Given the description of an element on the screen output the (x, y) to click on. 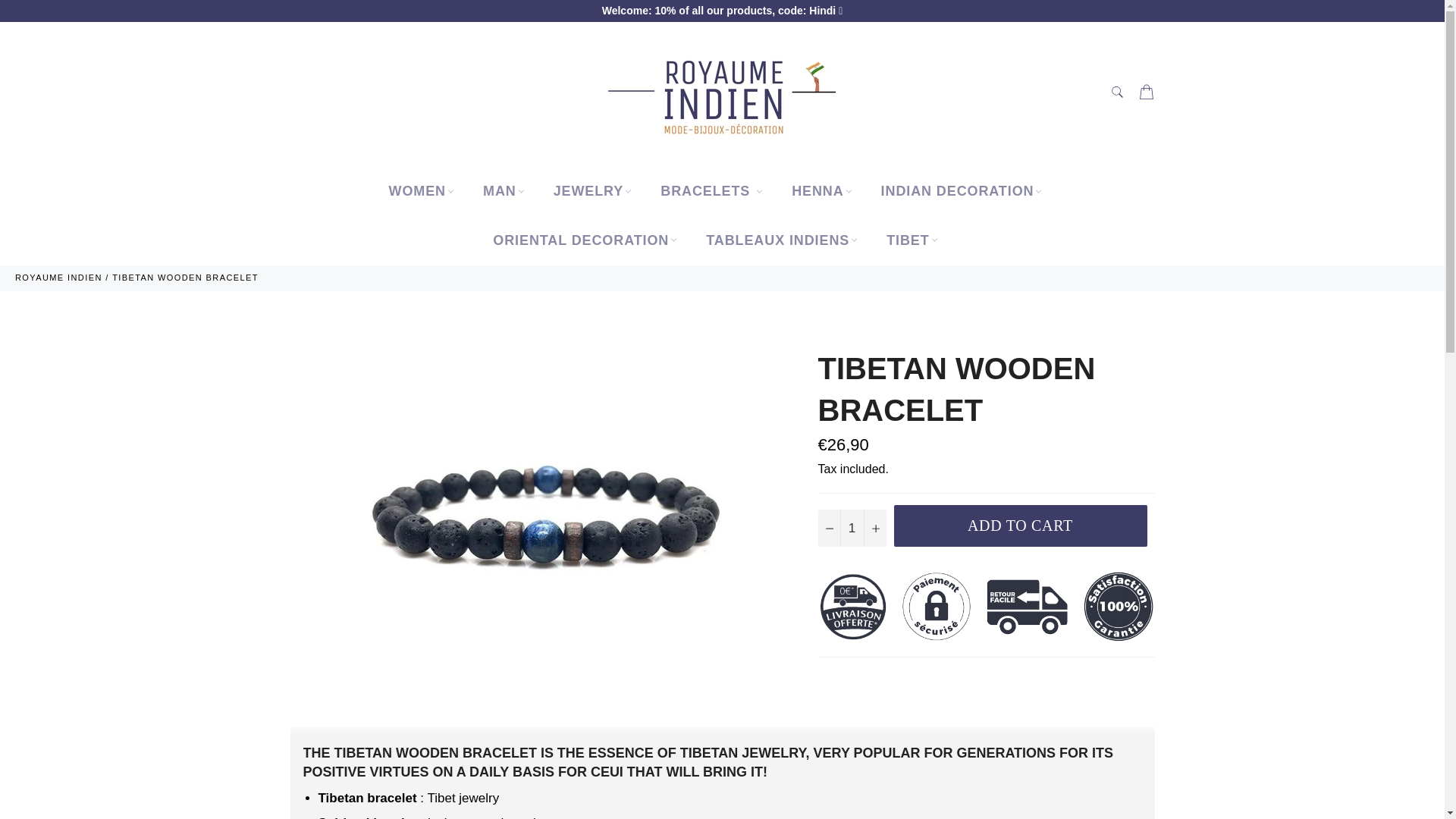
Search (1115, 91)
JEWELRY (592, 191)
1 (850, 528)
BRACELETS (710, 191)
WOMEN (420, 191)
MAN (502, 191)
